Given the description of an element on the screen output the (x, y) to click on. 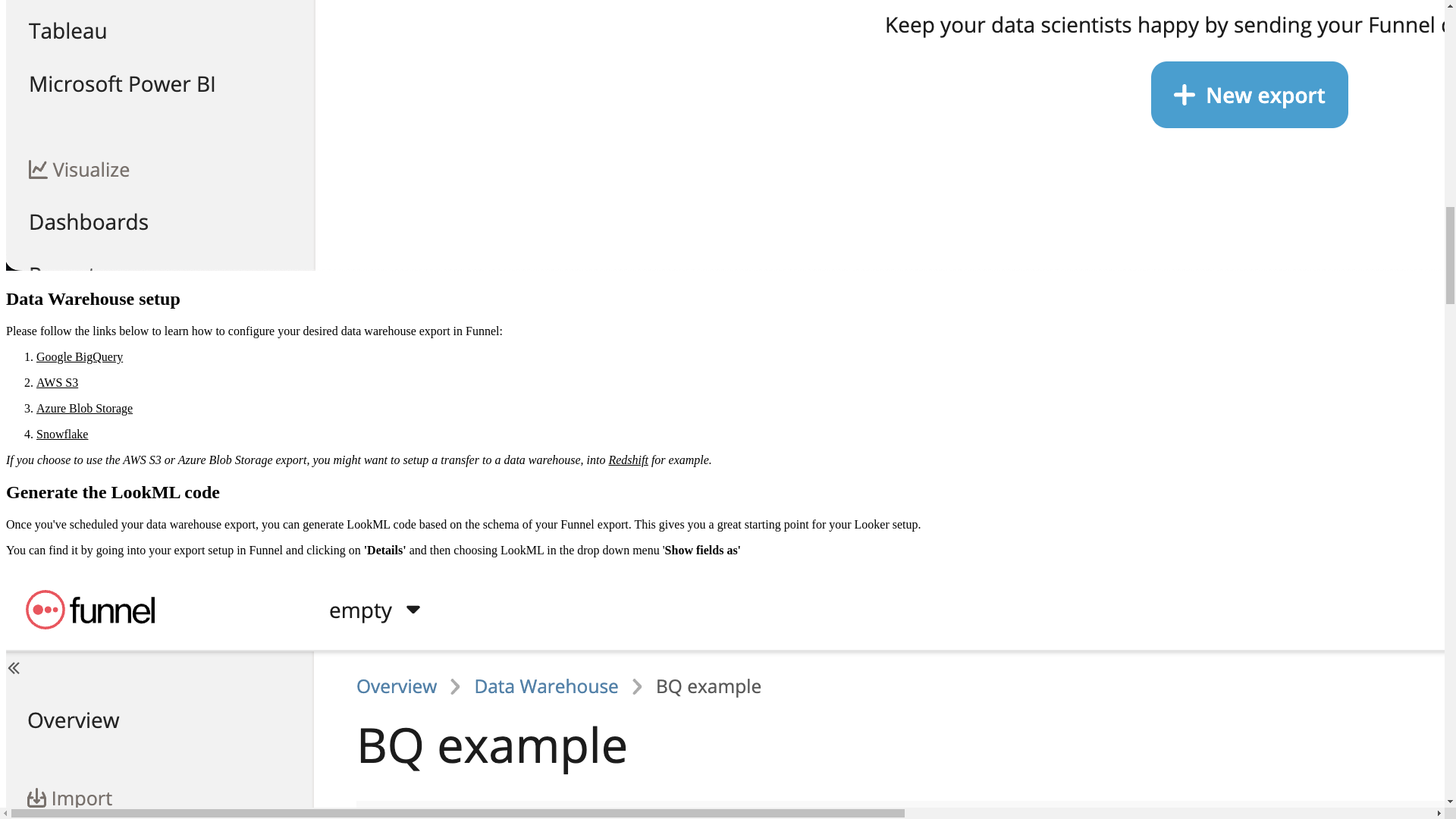
Snowflake (61, 433)
Redshift (627, 459)
Azure Blob Storage (84, 408)
AWS S3 (57, 382)
Google BigQuery (79, 356)
